Given the description of an element on the screen output the (x, y) to click on. 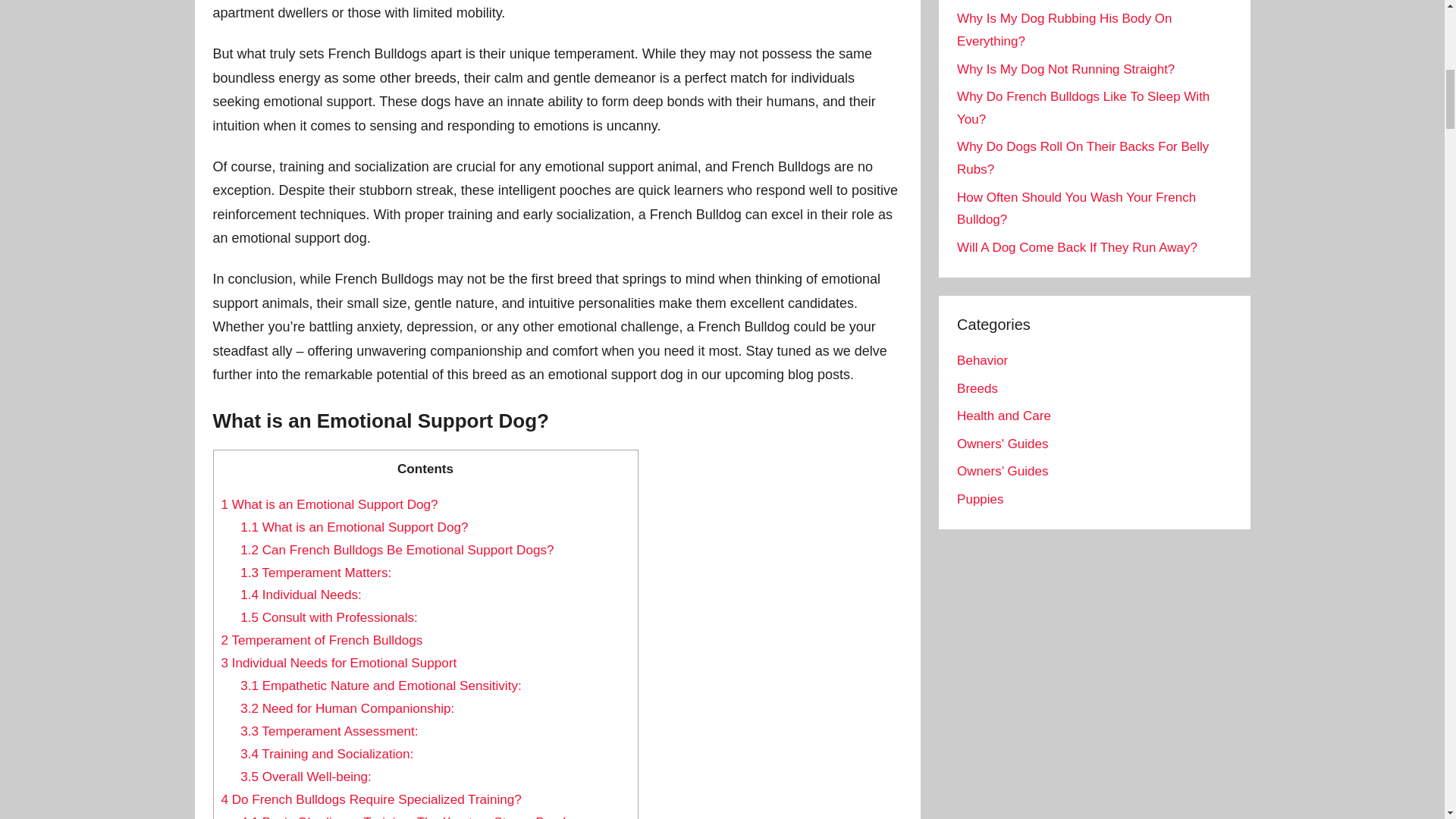
4.1 Basic Obedience Training: The Key to a Strong Bond (403, 816)
1.3 Temperament Matters: (315, 572)
1 What is an Emotional Support Dog? (329, 504)
1.1 What is an Emotional Support Dog? (353, 527)
3.1 Empathetic Nature and Emotional Sensitivity: (380, 685)
1.5 Consult with Professionals: (328, 617)
3.5 Overall Well-being: (305, 776)
3 Individual Needs for Emotional Support (339, 663)
1.4 Individual Needs: (300, 594)
2 Temperament of French Bulldogs (322, 640)
3.2 Need for Human Companionship: (347, 708)
1.2 Can French Bulldogs Be Emotional Support Dogs? (396, 549)
4 Do French Bulldogs Require Specialized Training? (371, 799)
3.4 Training and Socialization: (326, 753)
3.3 Temperament Assessment: (328, 730)
